Given the description of an element on the screen output the (x, y) to click on. 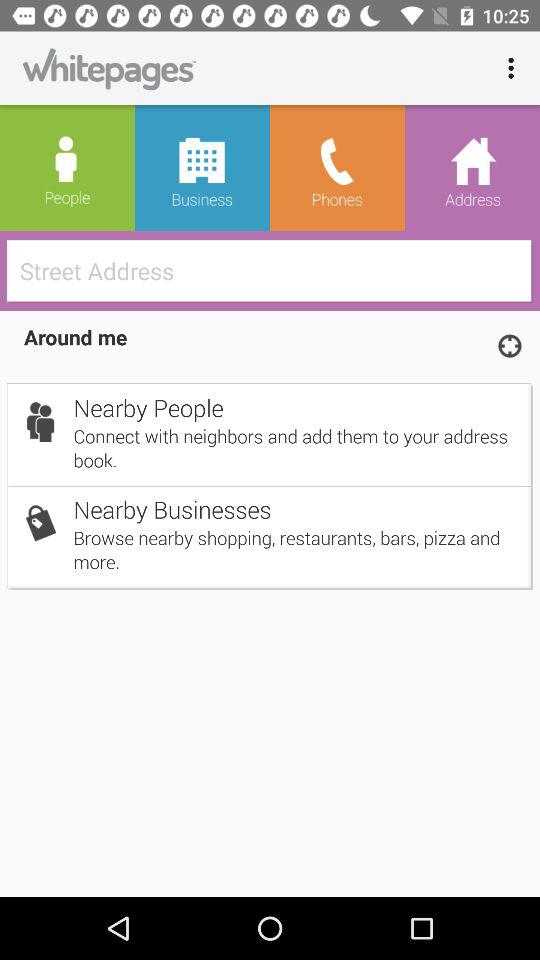
launch the item on the right (509, 345)
